Given the description of an element on the screen output the (x, y) to click on. 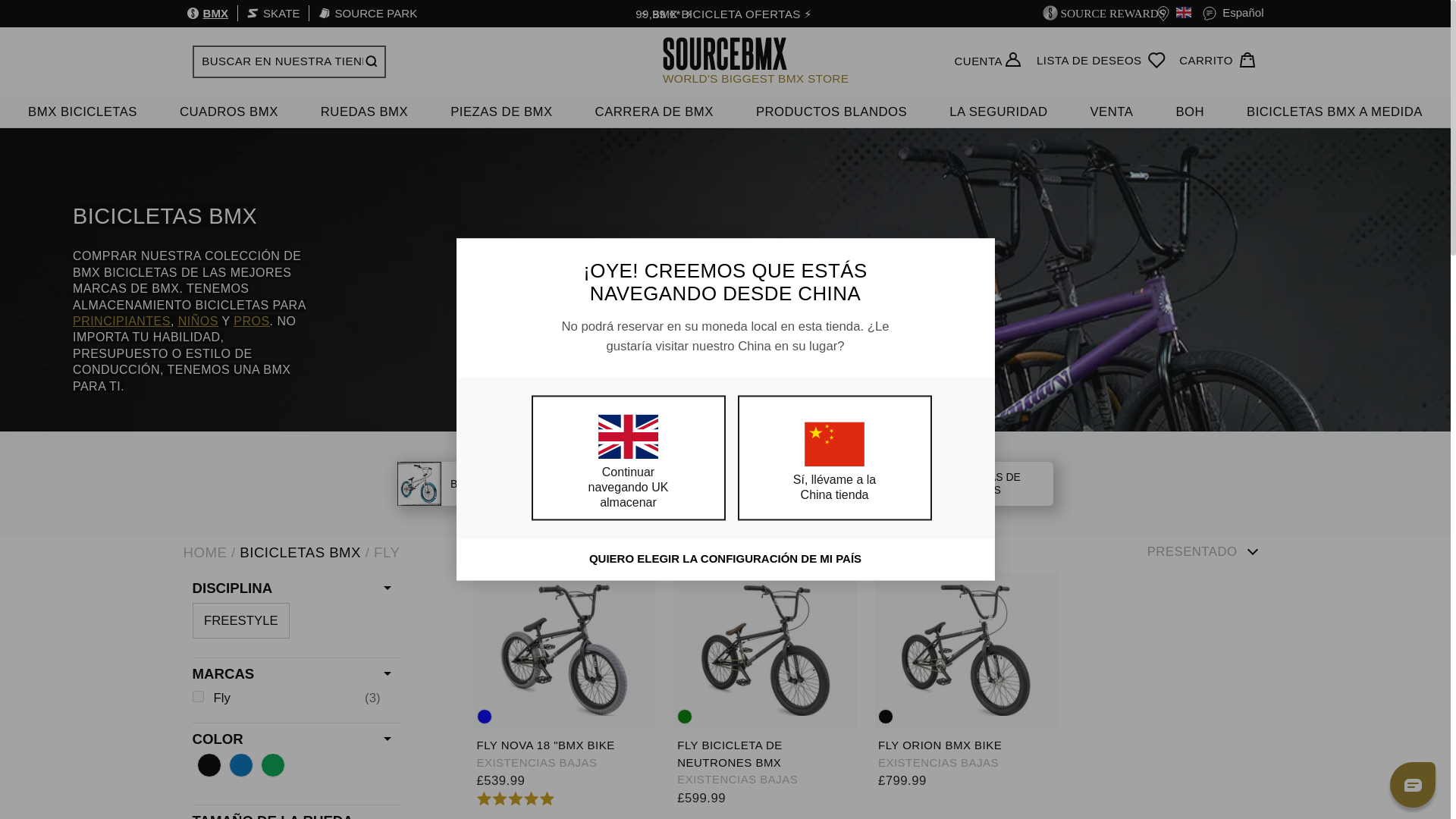
Home (205, 552)
BMX BICICLETAS (82, 111)
Filter by Black (204, 764)
on (204, 764)
on (236, 764)
BUSCAR (370, 61)
on (268, 764)
Fly ORion BMX Bike - Flat Black (885, 716)
Filter by Green (267, 765)
CUENTA (978, 61)
Fly Nova 18  (564, 650)
Fly Bicicleta de neutrones BMX - Metallic Green (685, 716)
Fly ORion BMX Bike (966, 650)
CARRITO (1218, 61)
Fly Bicicleta de neutrones BMX (765, 650)
